Given the description of an element on the screen output the (x, y) to click on. 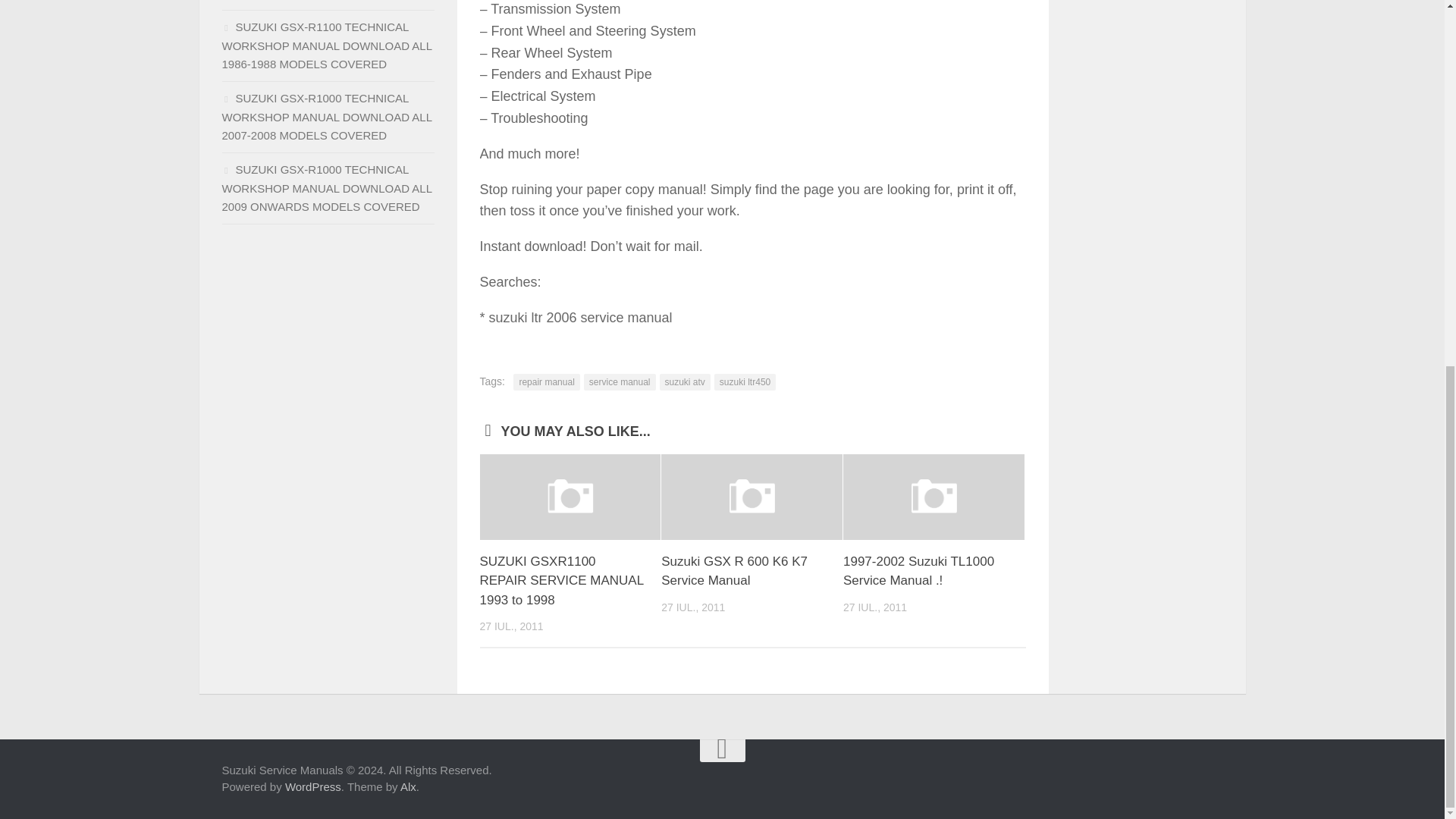
1997-2002 Suzuki TL1000 Service Manual .! (934, 496)
SUZUKI GSXR1100 REPAIR SERVICE MANUAL 1993 to 1998 (561, 580)
service manual (619, 381)
repair manual (546, 381)
suzuki ltr450 (745, 381)
1997-2002 Suzuki TL1000 Service Manual .! (918, 571)
SUZUKI GSXR1100 REPAIR SERVICE MANUAL 1993 to 1998 (570, 496)
Suzuki GSX R 600 K6 K7 Service Manual (734, 571)
